Given the description of an element on the screen output the (x, y) to click on. 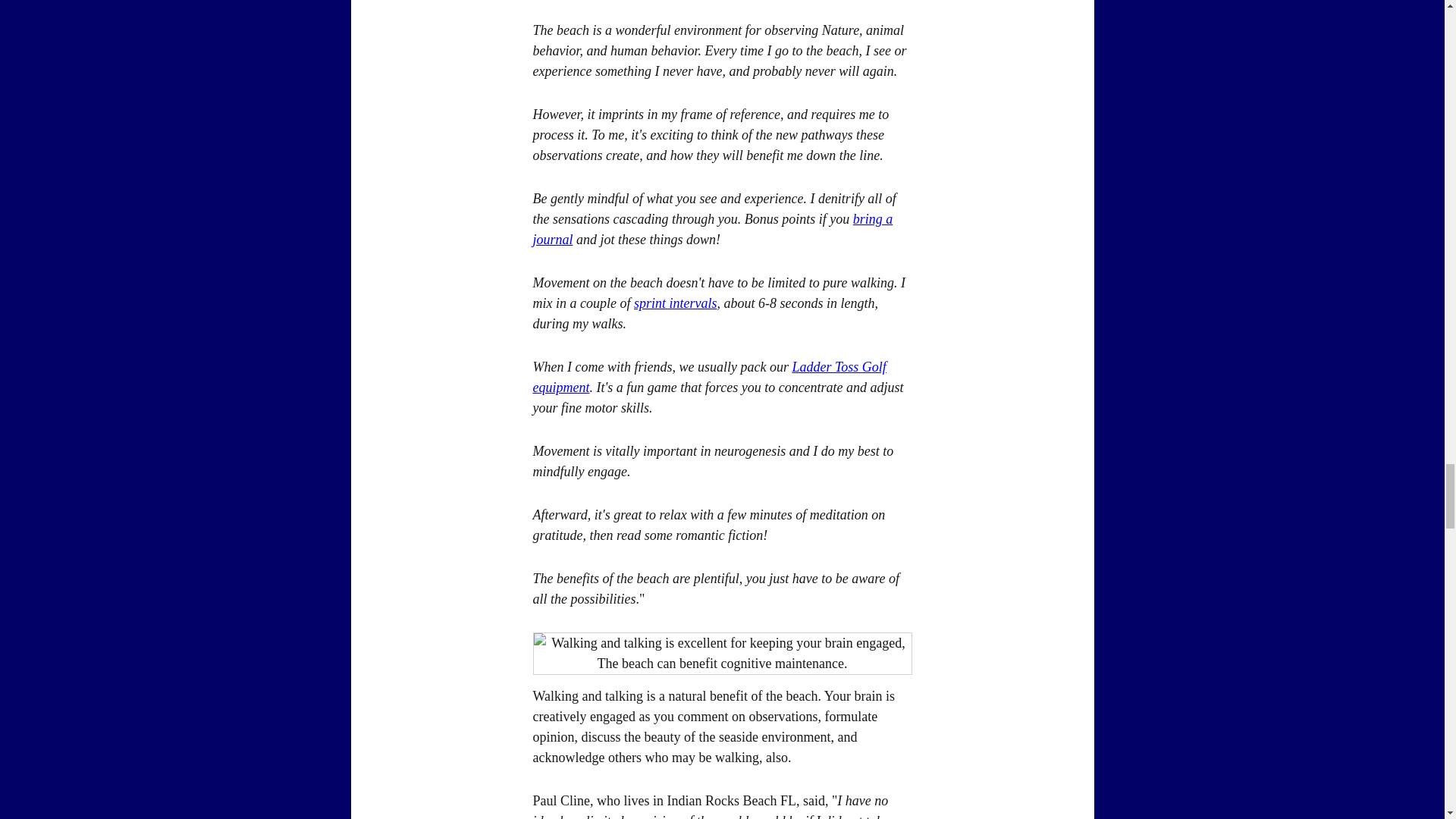
Ladder Toss Golf equipment (708, 376)
bring a journal (712, 229)
sprint intervals (675, 303)
